Given the description of an element on the screen output the (x, y) to click on. 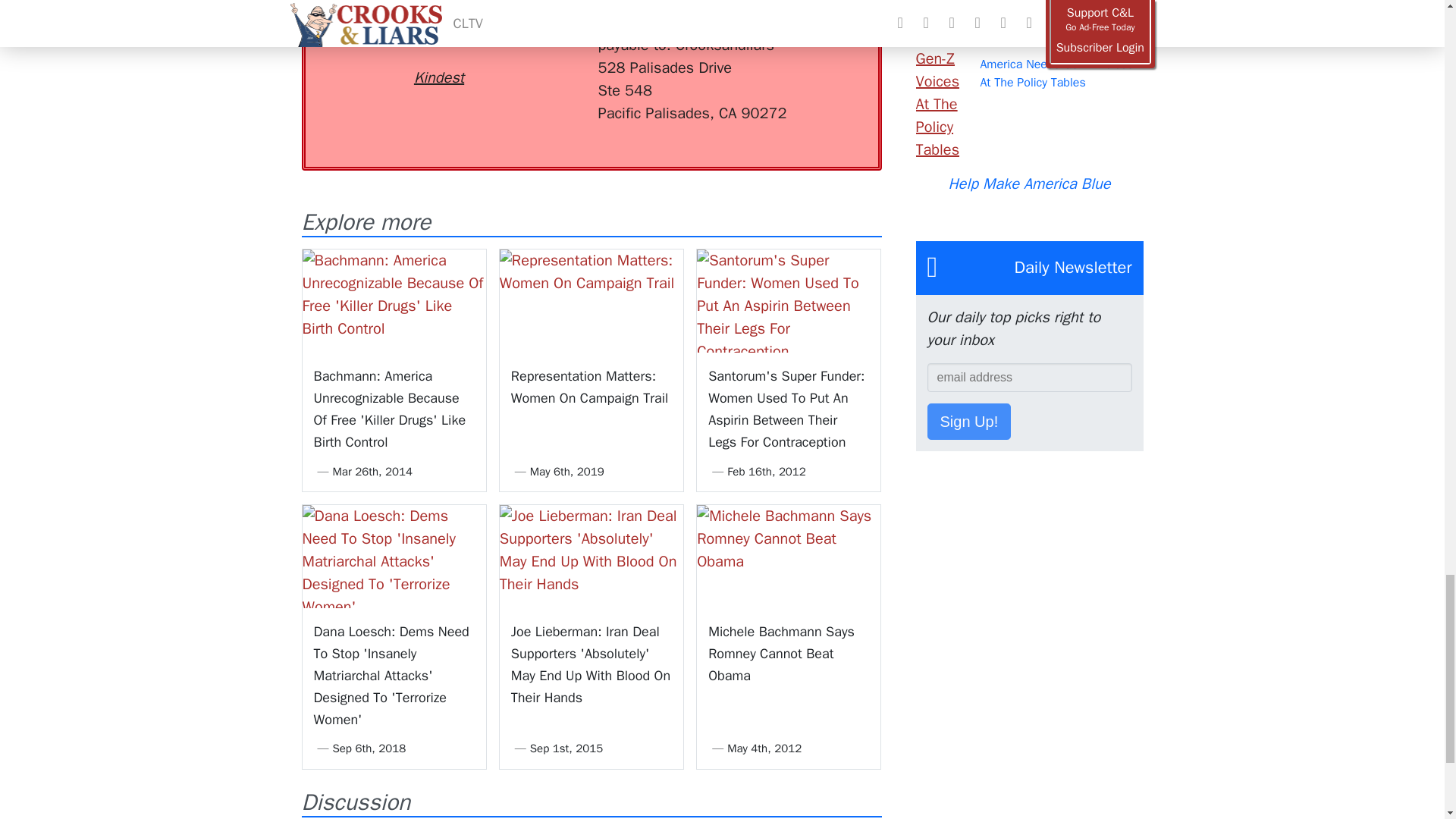
Donate via Kindest (438, 50)
Donate via PayPal (540, 38)
